Given the description of an element on the screen output the (x, y) to click on. 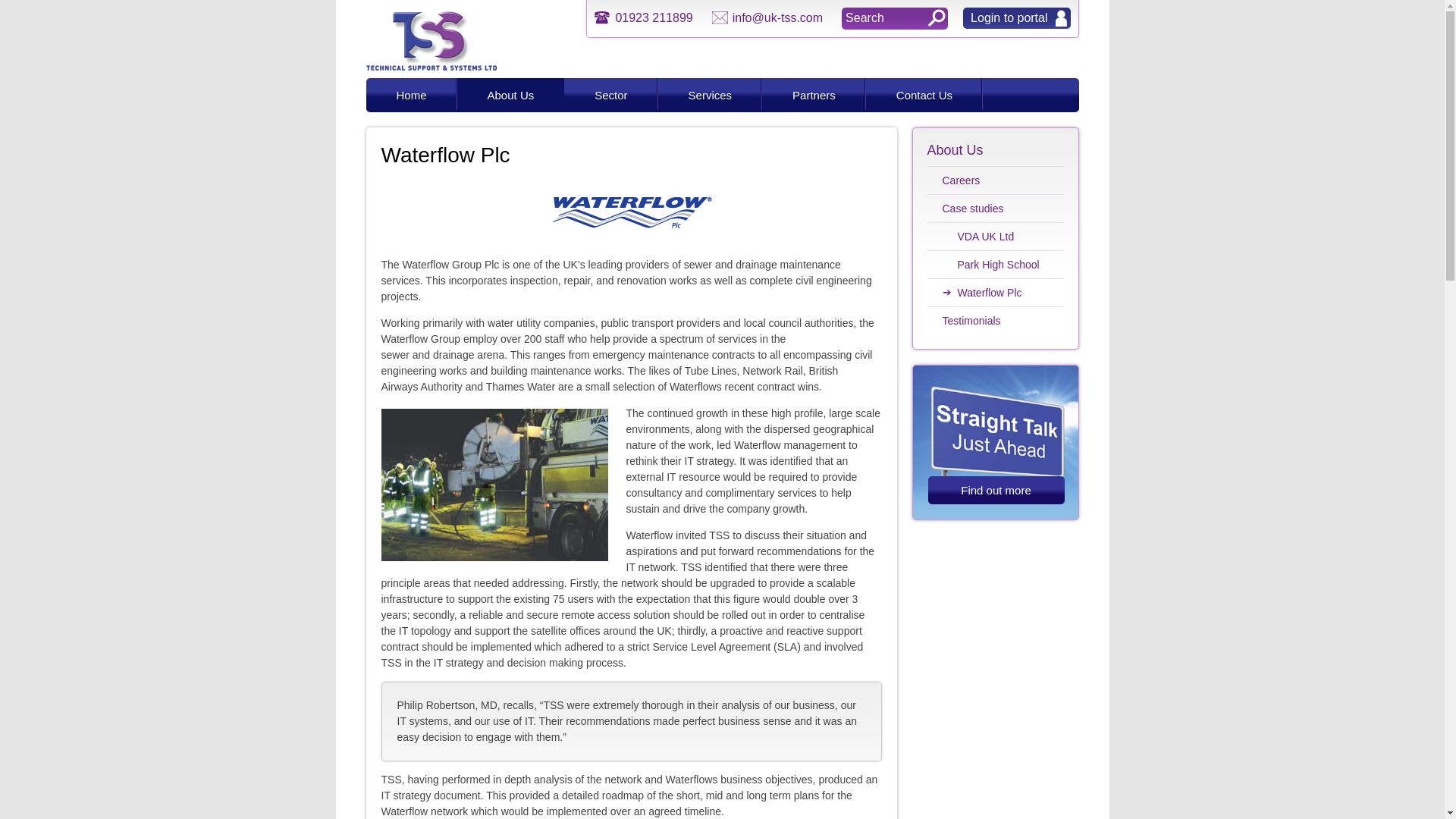
Sector (611, 94)
About Us (510, 94)
Services (710, 94)
waterflow-2 (493, 484)
waterflow (631, 212)
Home (411, 94)
TSS (431, 67)
